Given the description of an element on the screen output the (x, y) to click on. 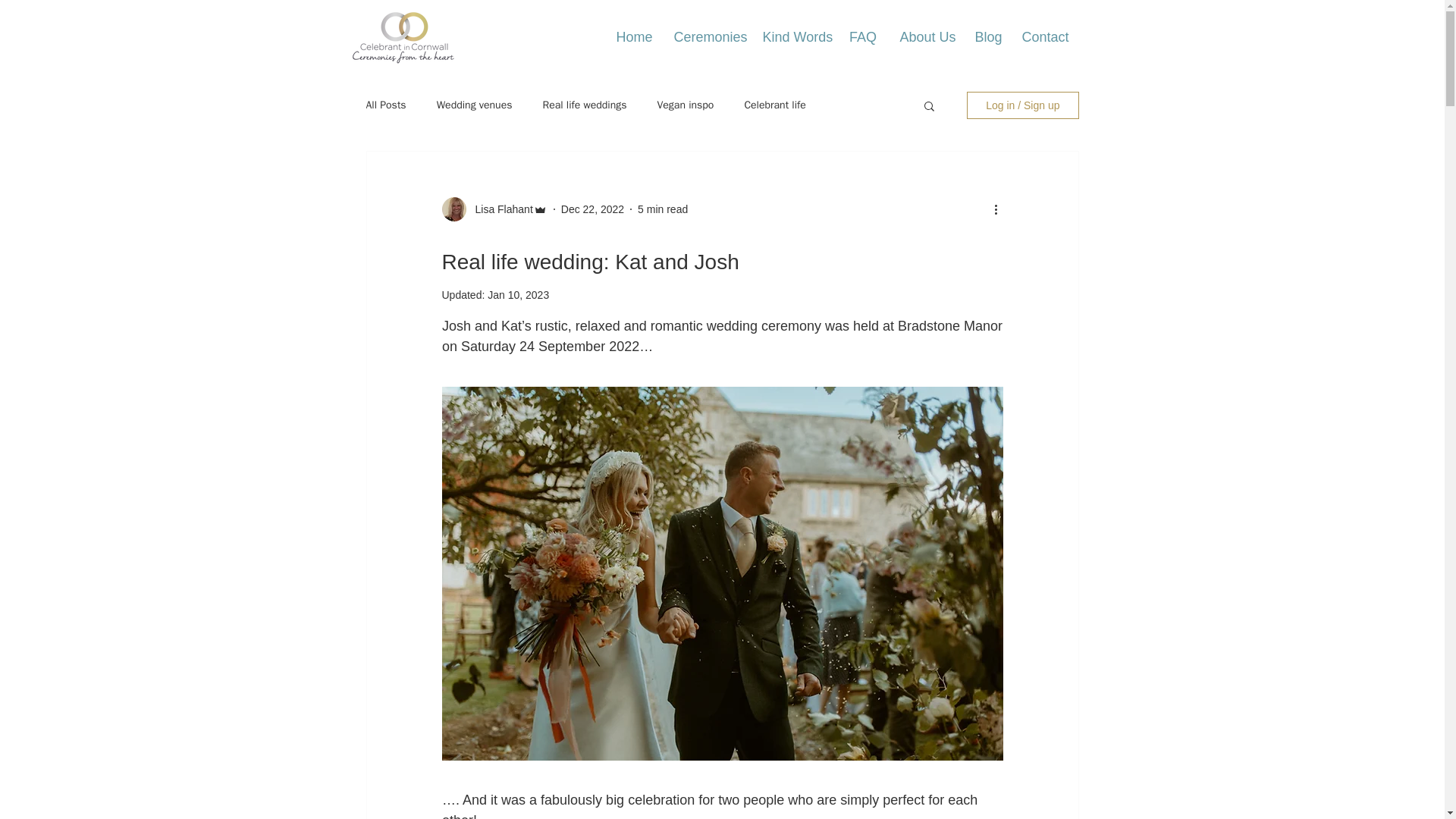
Home (633, 37)
Wedding venues (474, 105)
Contact (1043, 37)
Real life weddings (583, 105)
FAQ (862, 37)
Vegan inspo (684, 105)
5 min read (662, 209)
Lisa Flahant (498, 209)
About Us (925, 37)
Dec 22, 2022 (592, 209)
